Given the description of an element on the screen output the (x, y) to click on. 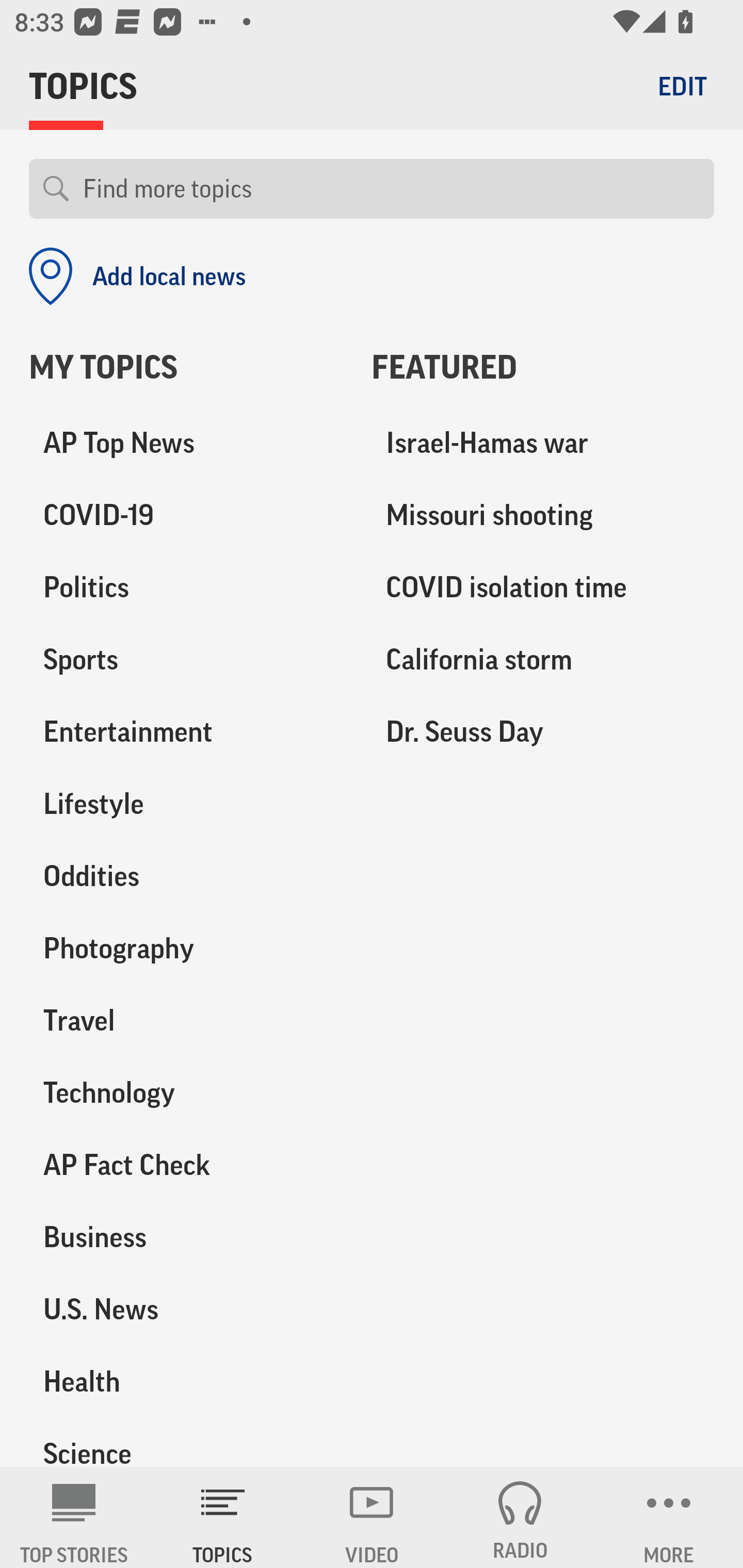
EDIT (682, 86)
Find more topics (391, 188)
Add local news (137, 276)
AP Top News (185, 443)
Israel-Hamas war (542, 443)
COVID-19 (185, 515)
Missouri shooting (542, 515)
Politics (185, 587)
COVID isolation time (542, 587)
Sports (185, 660)
California storm (542, 660)
Entertainment (185, 732)
Dr. Seuss Day (542, 732)
Lifestyle (185, 804)
Oddities (185, 876)
Photography (185, 948)
Travel (185, 1020)
Technology (185, 1092)
AP Fact Check (185, 1164)
Business (185, 1237)
U.S. News (185, 1309)
Health (185, 1381)
Science (185, 1442)
AP News TOP STORIES (74, 1517)
TOPICS (222, 1517)
VIDEO (371, 1517)
RADIO (519, 1517)
MORE (668, 1517)
